Given the description of an element on the screen output the (x, y) to click on. 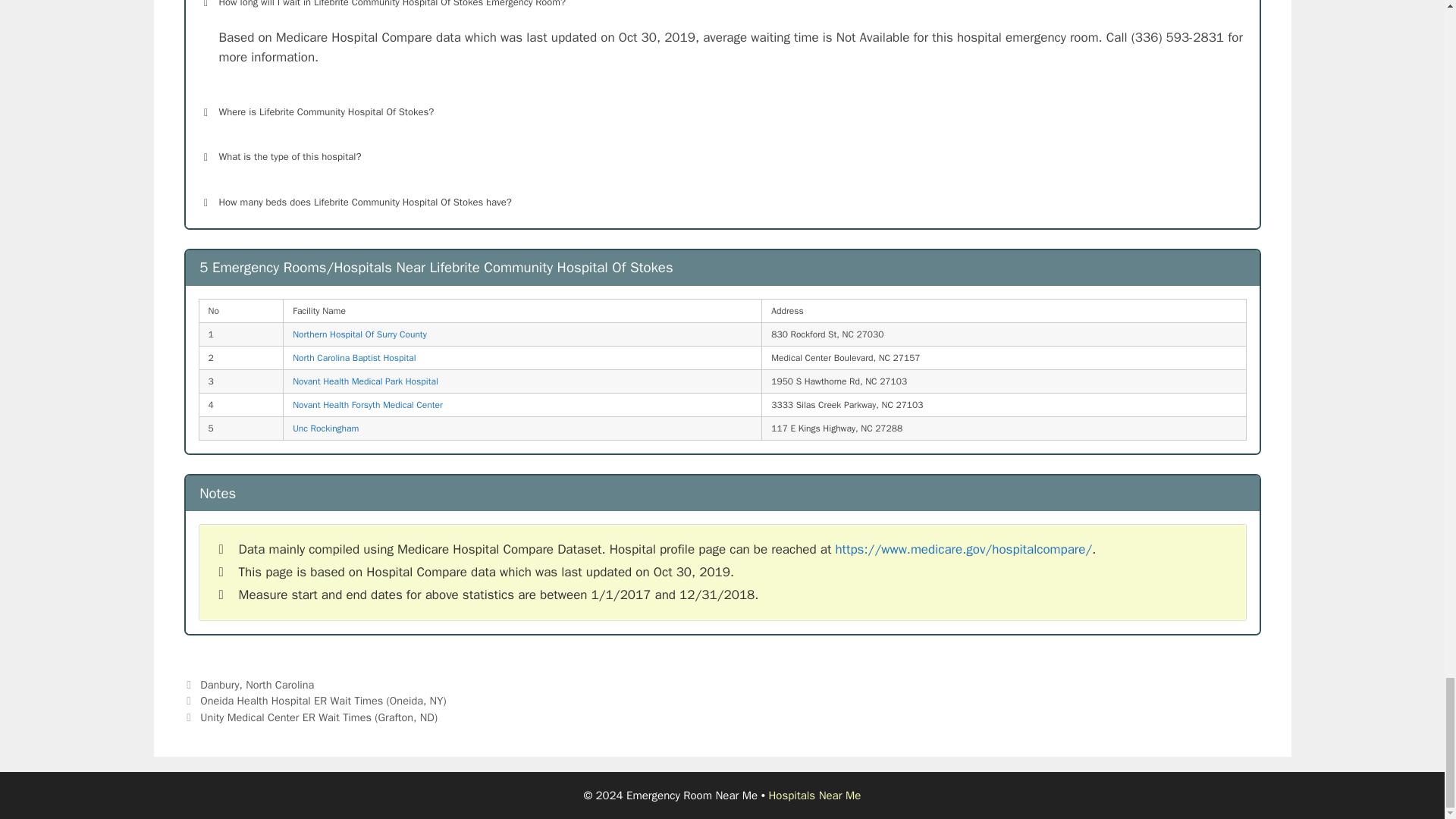
North Carolina (280, 684)
Novant Health Medical Park Hospital (365, 381)
Unc Rockingham (325, 428)
Novant Health Forsyth Medical Center (367, 404)
Hospitals Near Me (814, 795)
Danbury (219, 684)
Northern Hospital Of Surry County (359, 334)
North Carolina Baptist Hospital (353, 357)
